Given the description of an element on the screen output the (x, y) to click on. 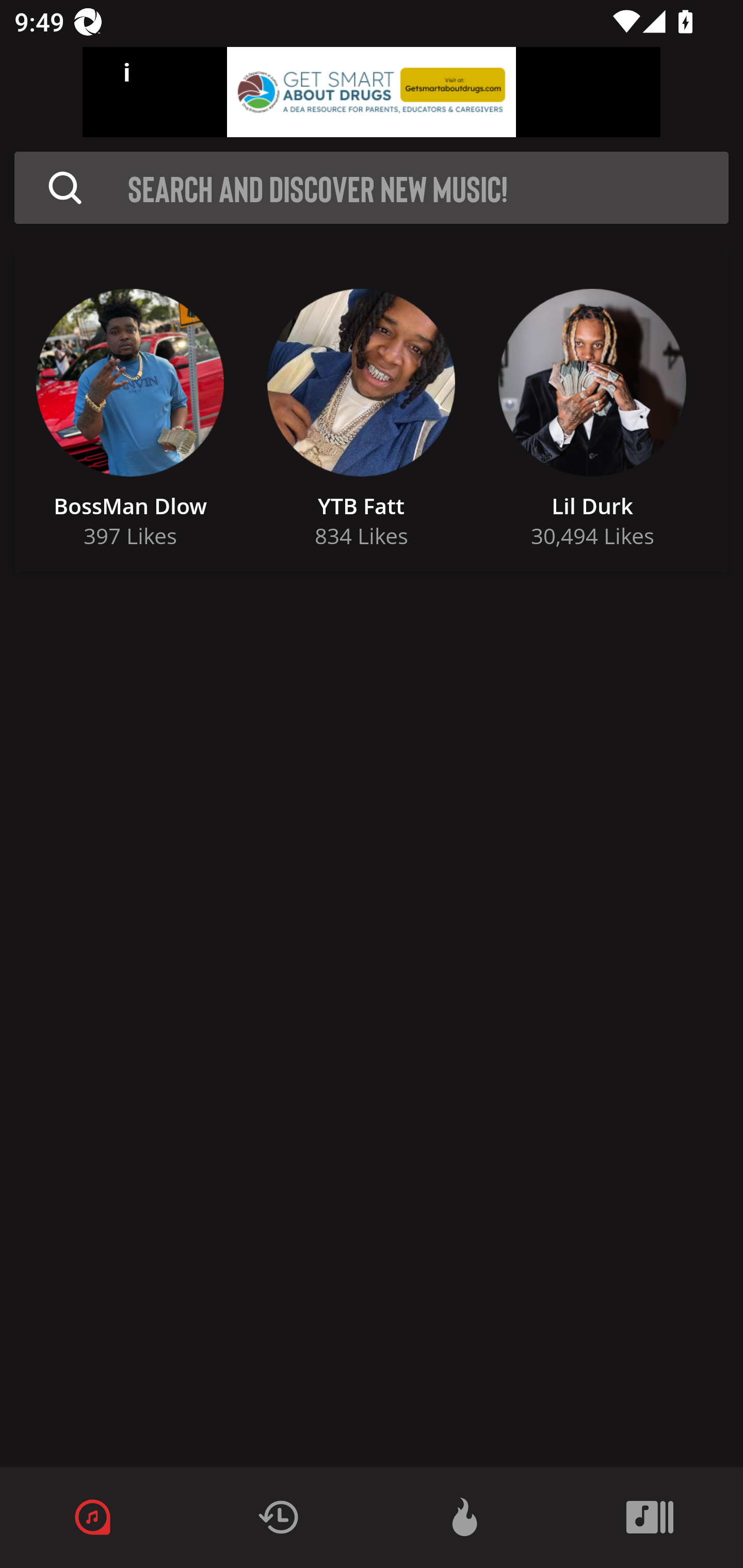
SEARCH AND DISCOVER NEW MUSIC! (427, 188)
Description (64, 188)
Description BossMan Dlow 397 Likes (129, 413)
Description YTB Fatt 834 Likes (360, 413)
Description Lil Durk 30,494 Likes (591, 413)
